Given the description of an element on the screen output the (x, y) to click on. 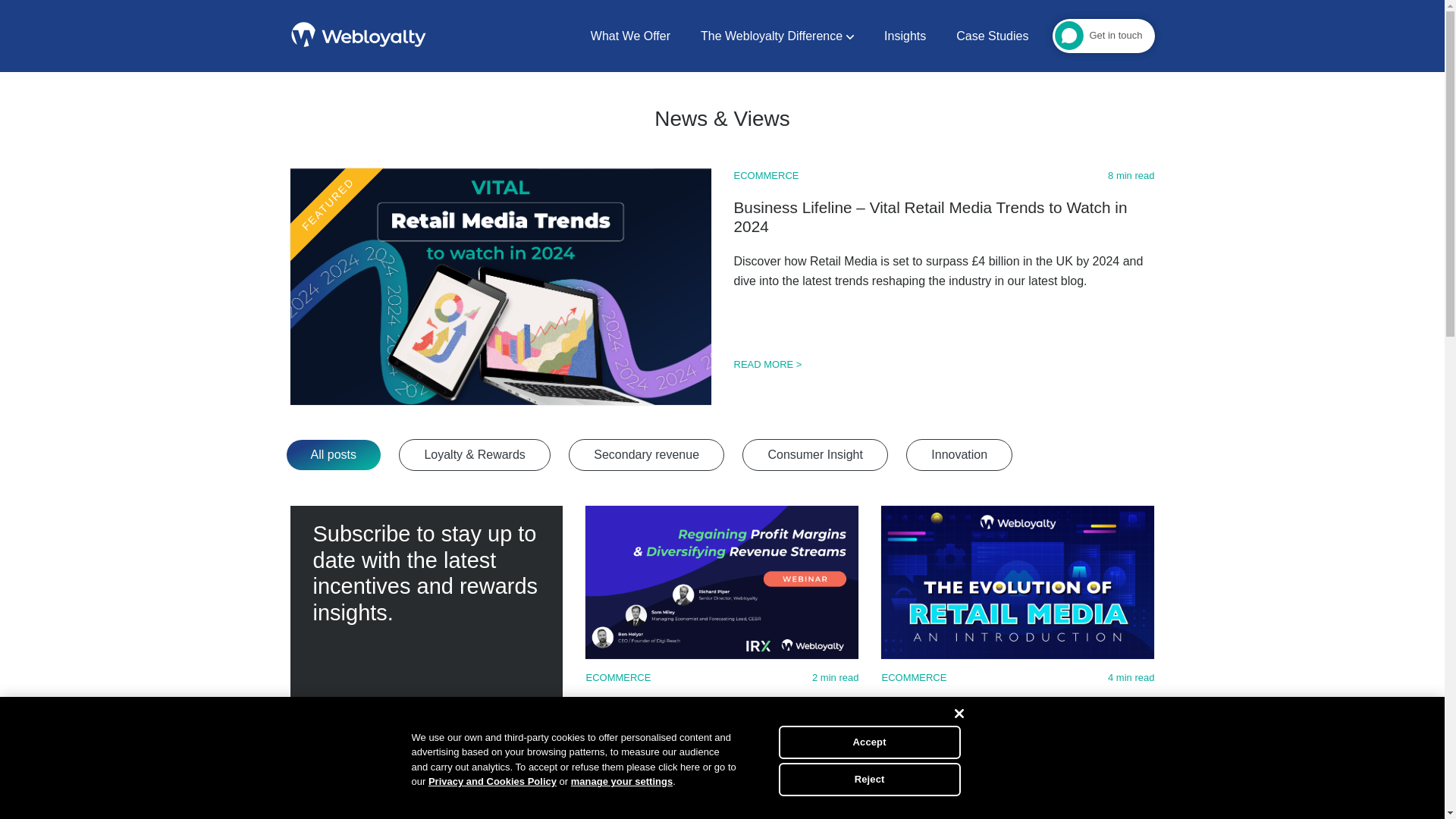
Case Studies (991, 36)
ECOMMERCE (617, 677)
Secondary revenue (646, 454)
What We Offer (631, 36)
The Evolution of Retail Media (983, 710)
Privacy Policy (443, 763)
ECOMMERCE (913, 677)
All posts (333, 454)
Consumer Insight (814, 454)
